Given the description of an element on the screen output the (x, y) to click on. 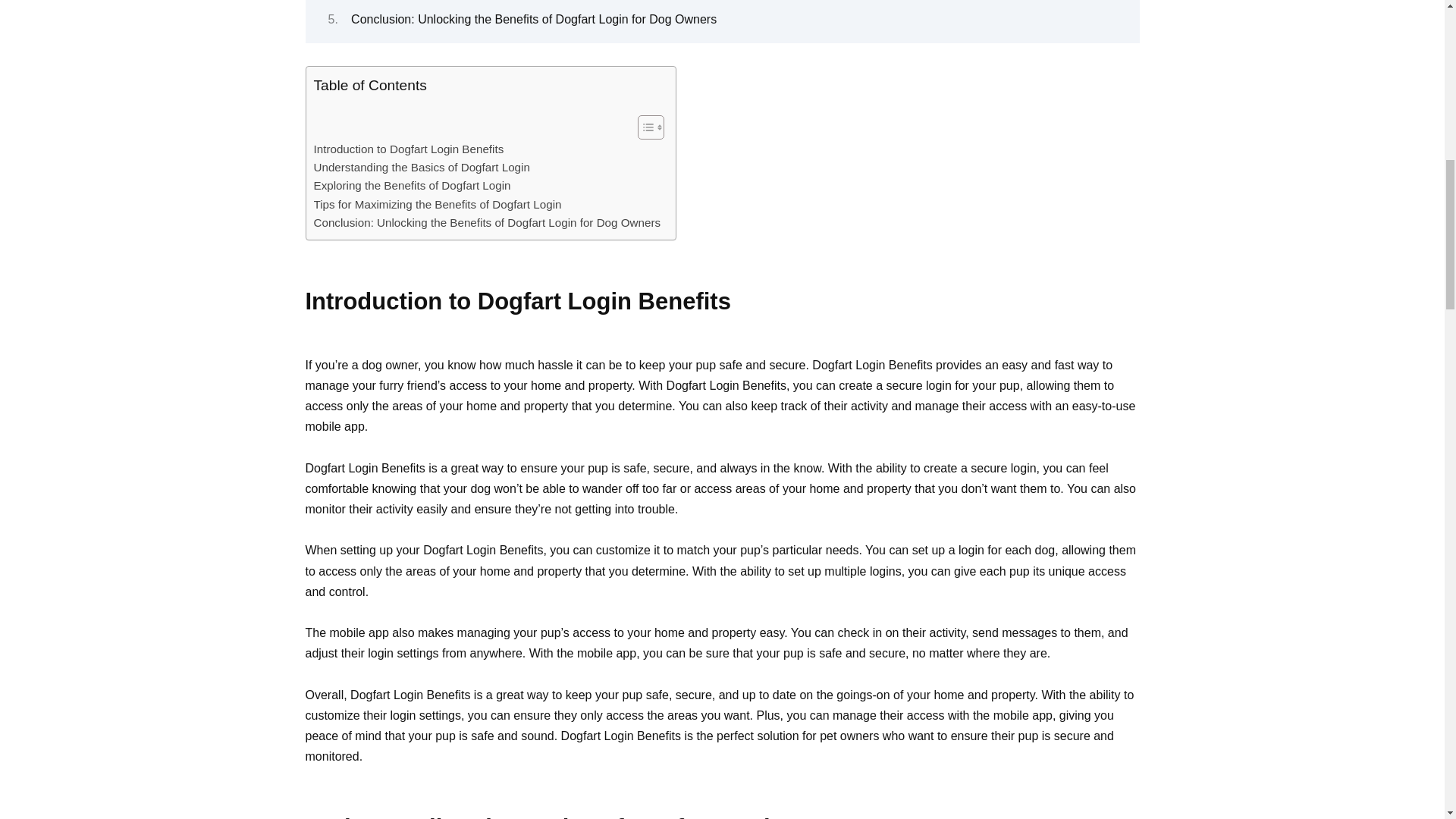
Tips for Maximizing the Benefits of Dogfart Login (438, 204)
Tips for Maximizing the Benefits of Dogfart Login (438, 204)
Exploring the Benefits of Dogfart Login (412, 185)
Understanding the Basics of Dogfart Login (421, 167)
Introduction to Dogfart Login Benefits (408, 149)
Understanding the Basics of Dogfart Login (421, 167)
Introduction to Dogfart Login Benefits (408, 149)
